Given the description of an element on the screen output the (x, y) to click on. 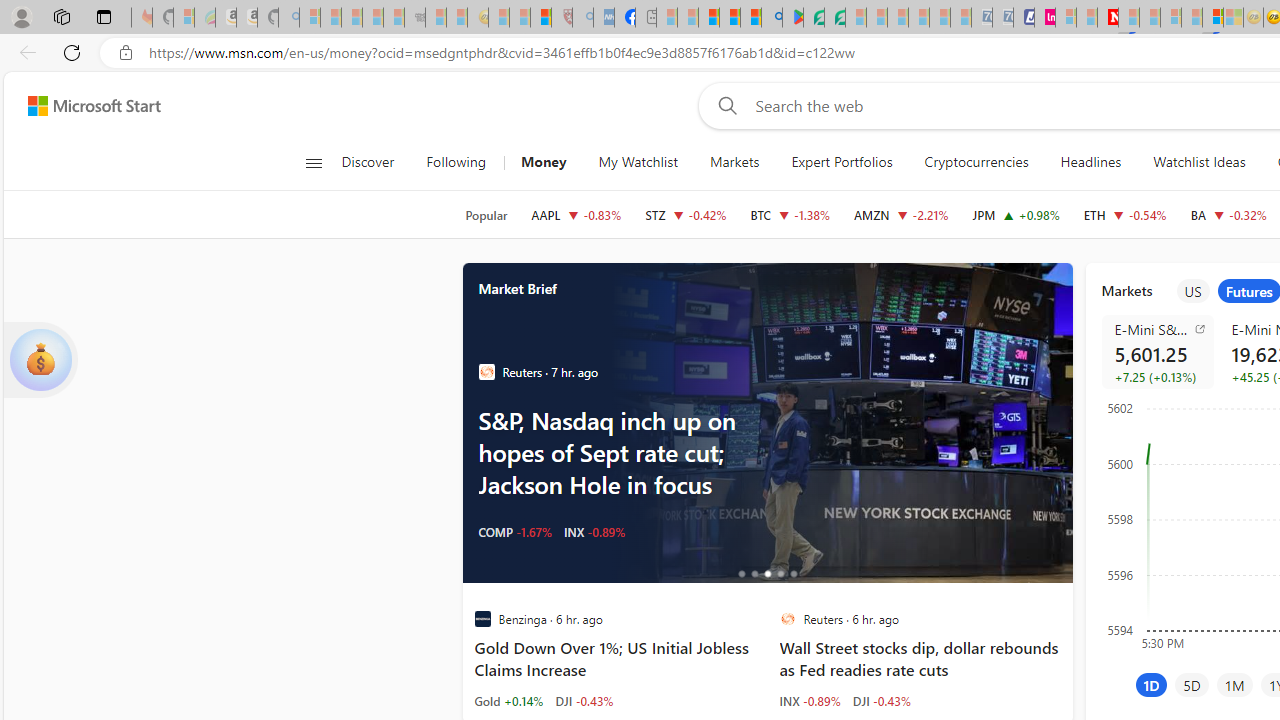
Terms of Use Agreement (813, 17)
STZ CONSTELLATION BRANDS, INC. decrease 243.70 -1.04 -0.42% (685, 214)
Watchlist Ideas (1199, 162)
Benzinga (482, 619)
AAPL APPLE INC. decrease 224.53 -1.87 -0.83% (575, 214)
Popular (486, 215)
